Given the description of an element on the screen output the (x, y) to click on. 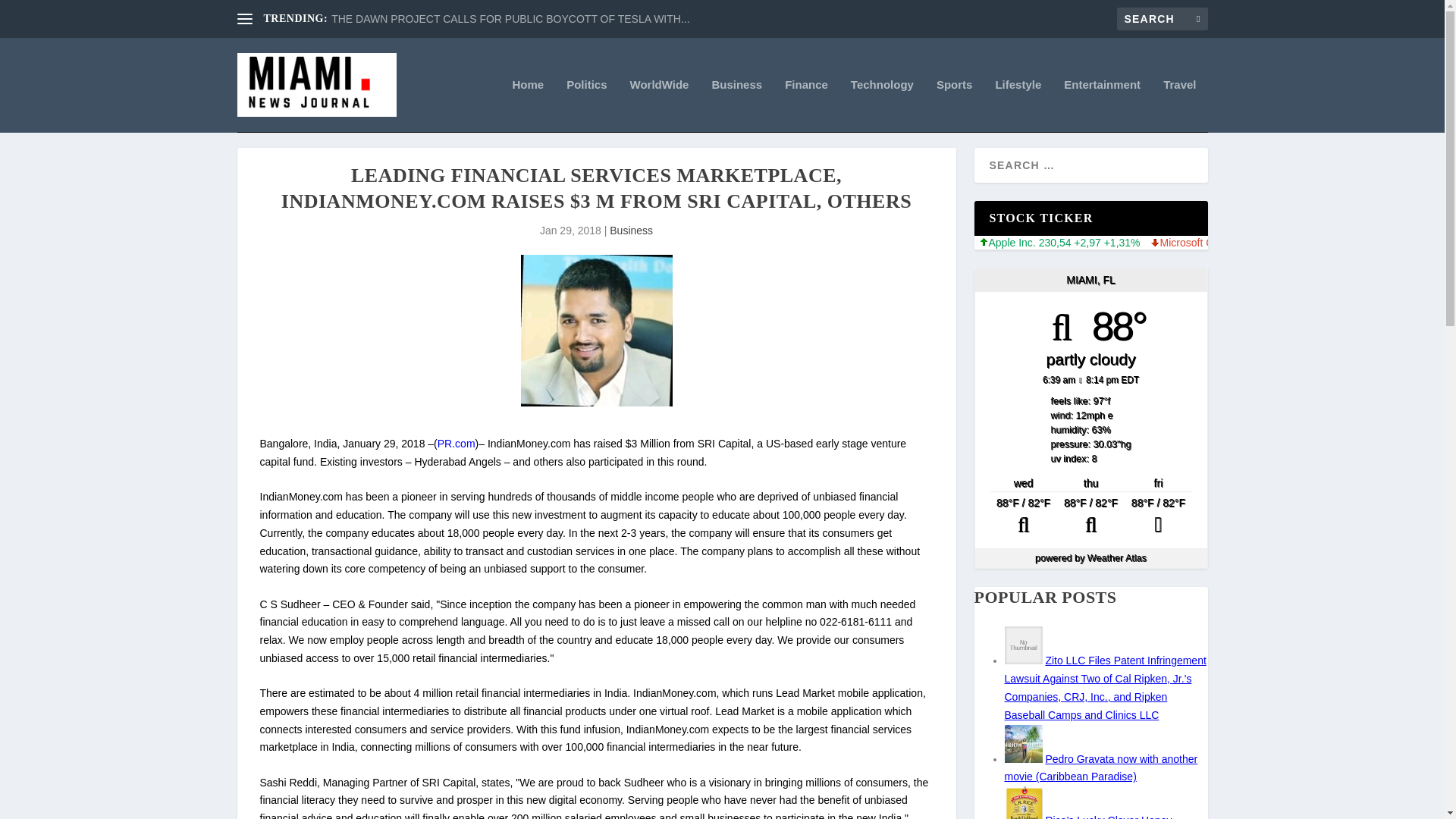
WorldWide (659, 104)
THE DAWN PROJECT CALLS FOR PUBLIC BOYCOTT OF TESLA WITH... (509, 19)
Business (736, 104)
PR.com (457, 443)
Entertainment (1102, 104)
Business (631, 230)
Technology (882, 104)
Search for: (1161, 18)
